Given the description of an element on the screen output the (x, y) to click on. 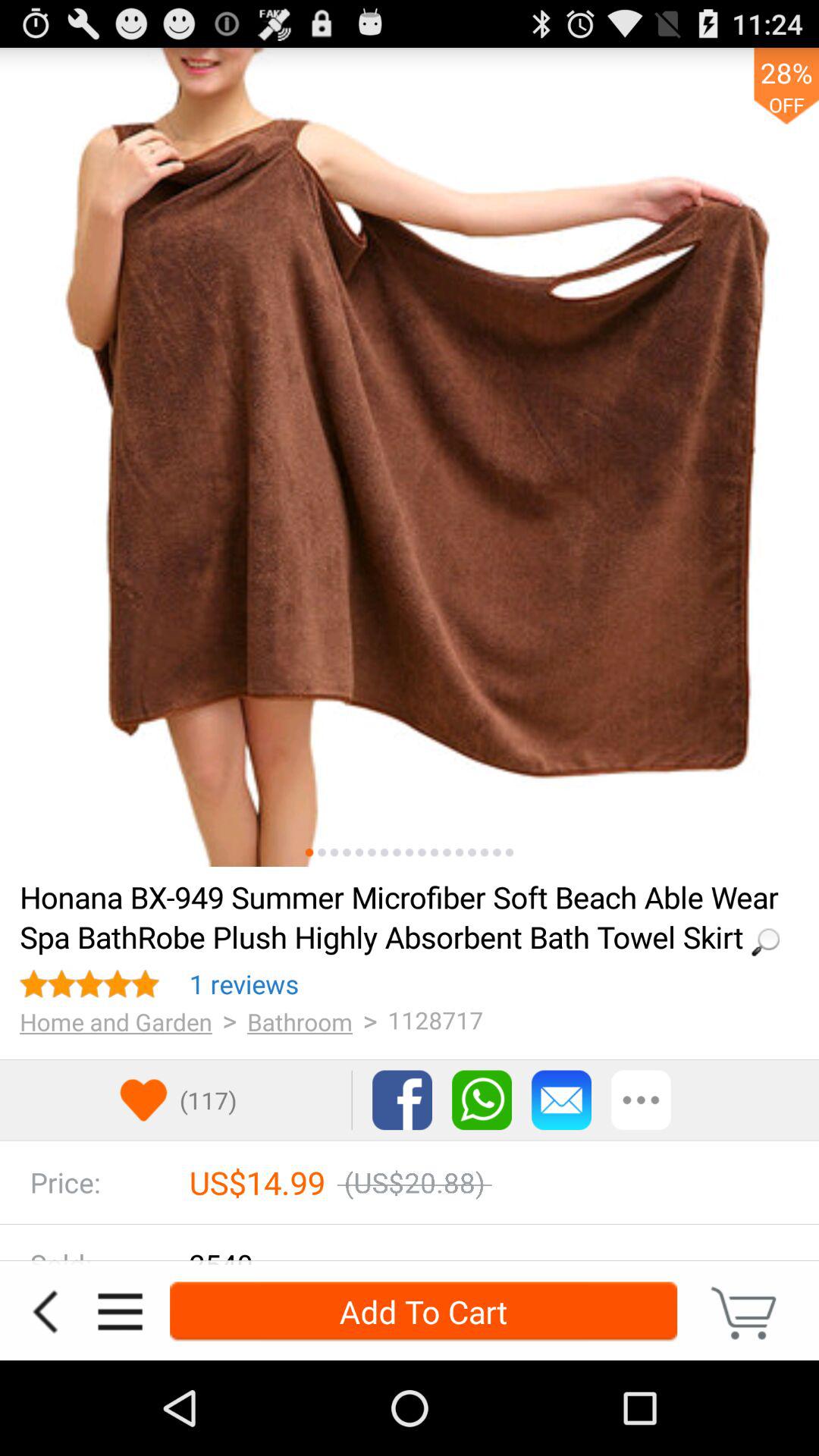
open the icon to the left of the > (244, 983)
